Given the description of an element on the screen output the (x, y) to click on. 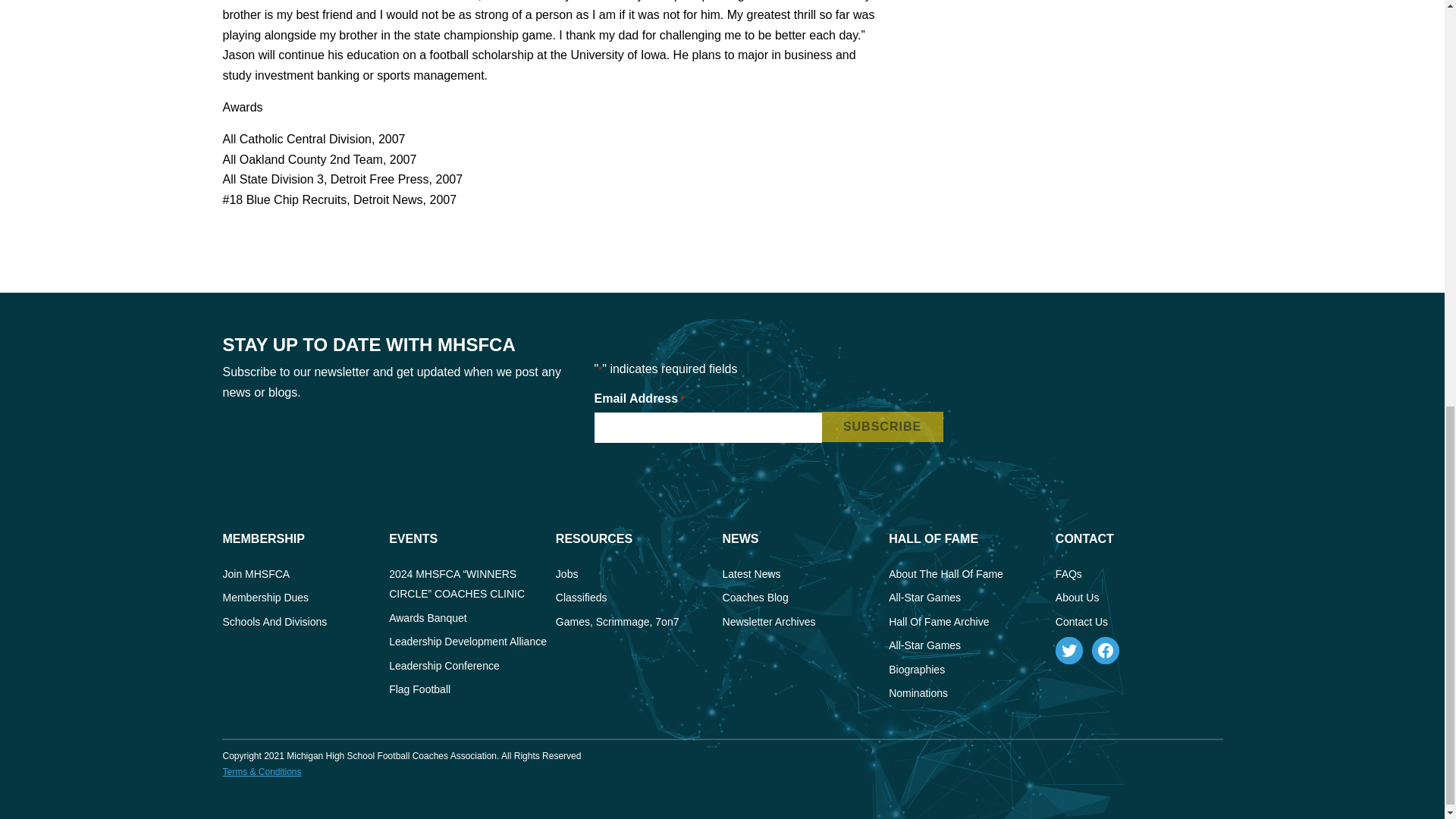
Subscribe (882, 426)
